Given the description of an element on the screen output the (x, y) to click on. 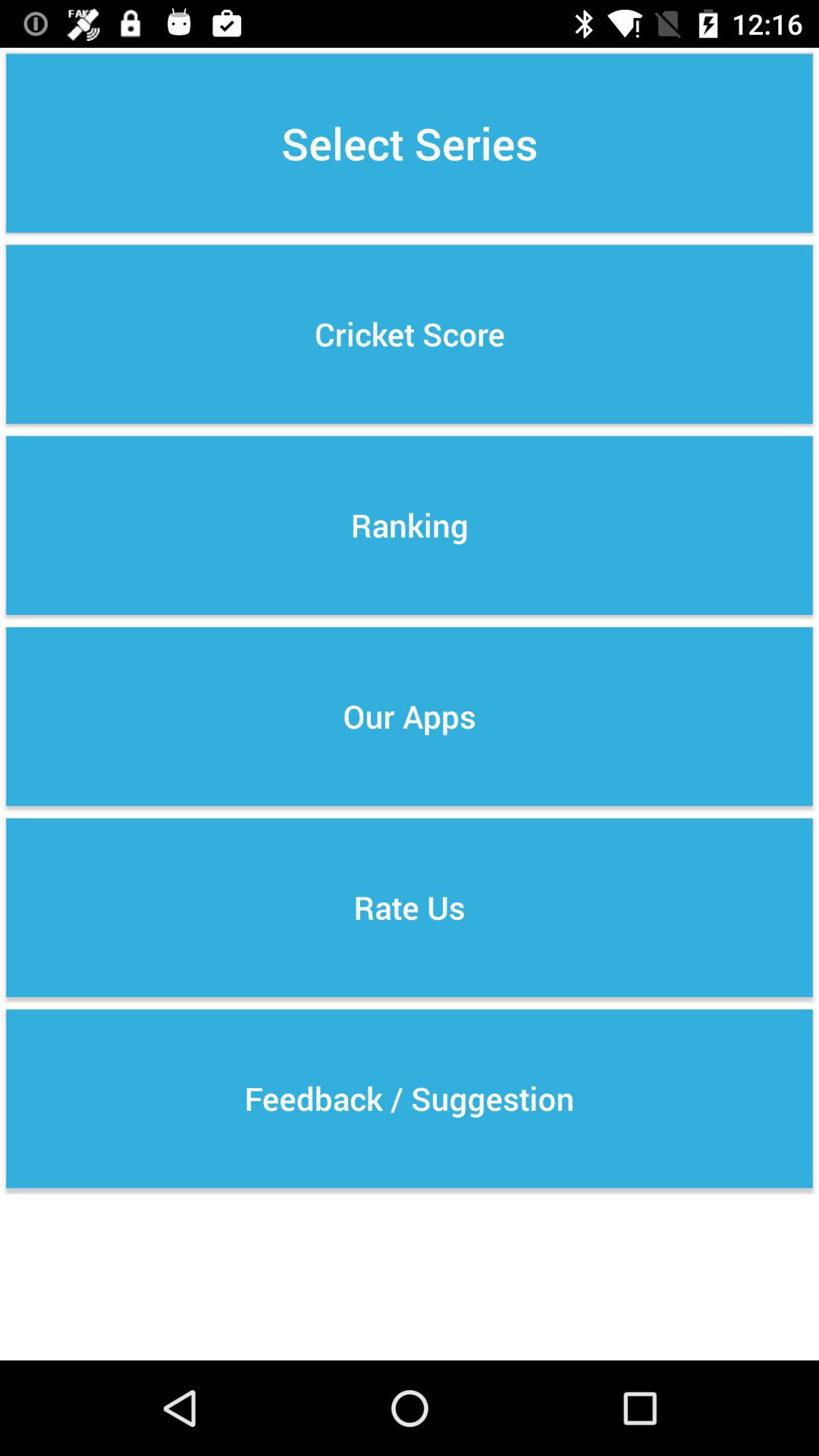
select button above the our apps item (409, 525)
